Given the description of an element on the screen output the (x, y) to click on. 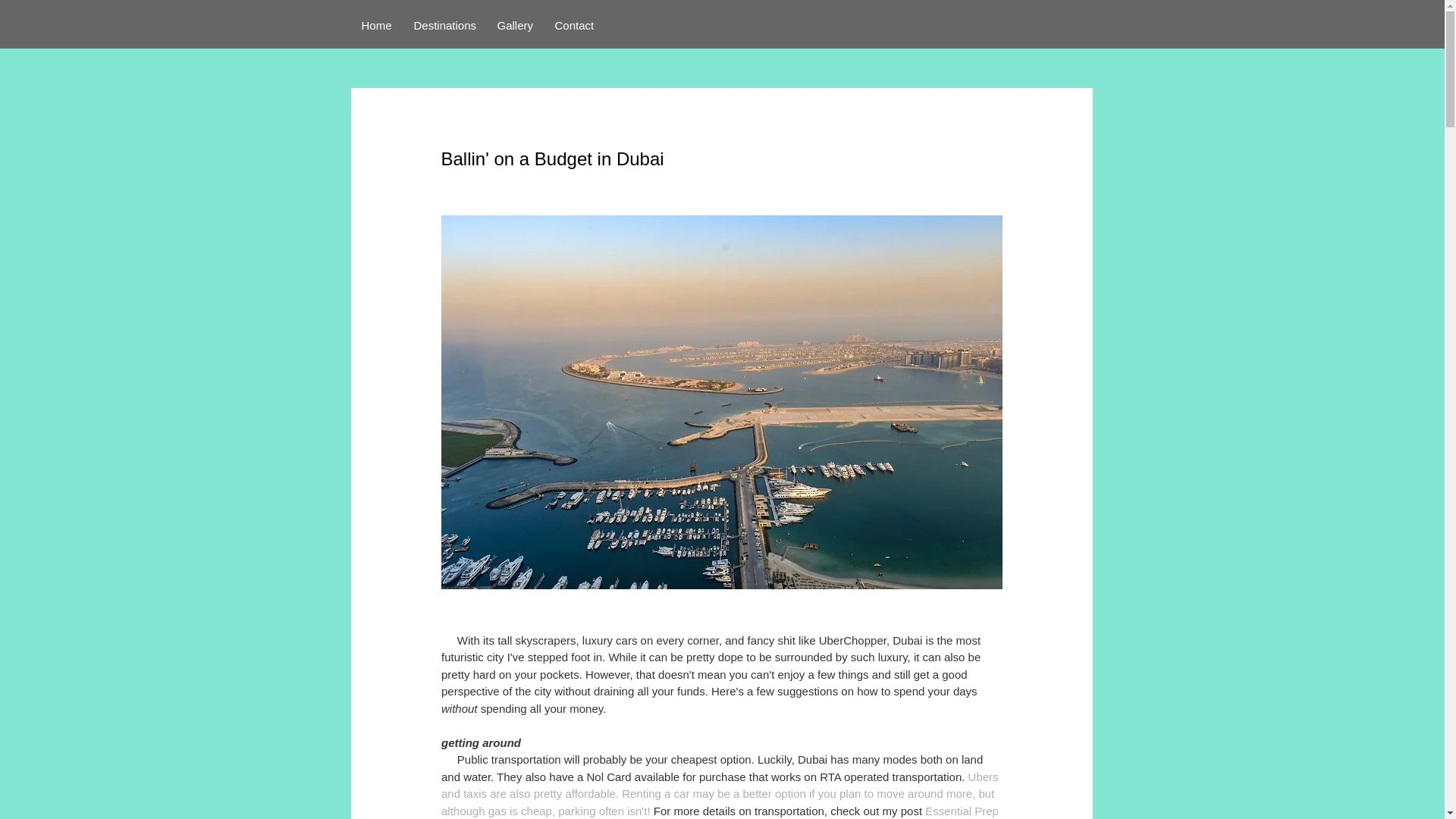
Home (376, 25)
Gallery (515, 25)
Essential Prep Guide: Dubai (721, 811)
Destinations (444, 25)
Contact (574, 25)
